Given the description of an element on the screen output the (x, y) to click on. 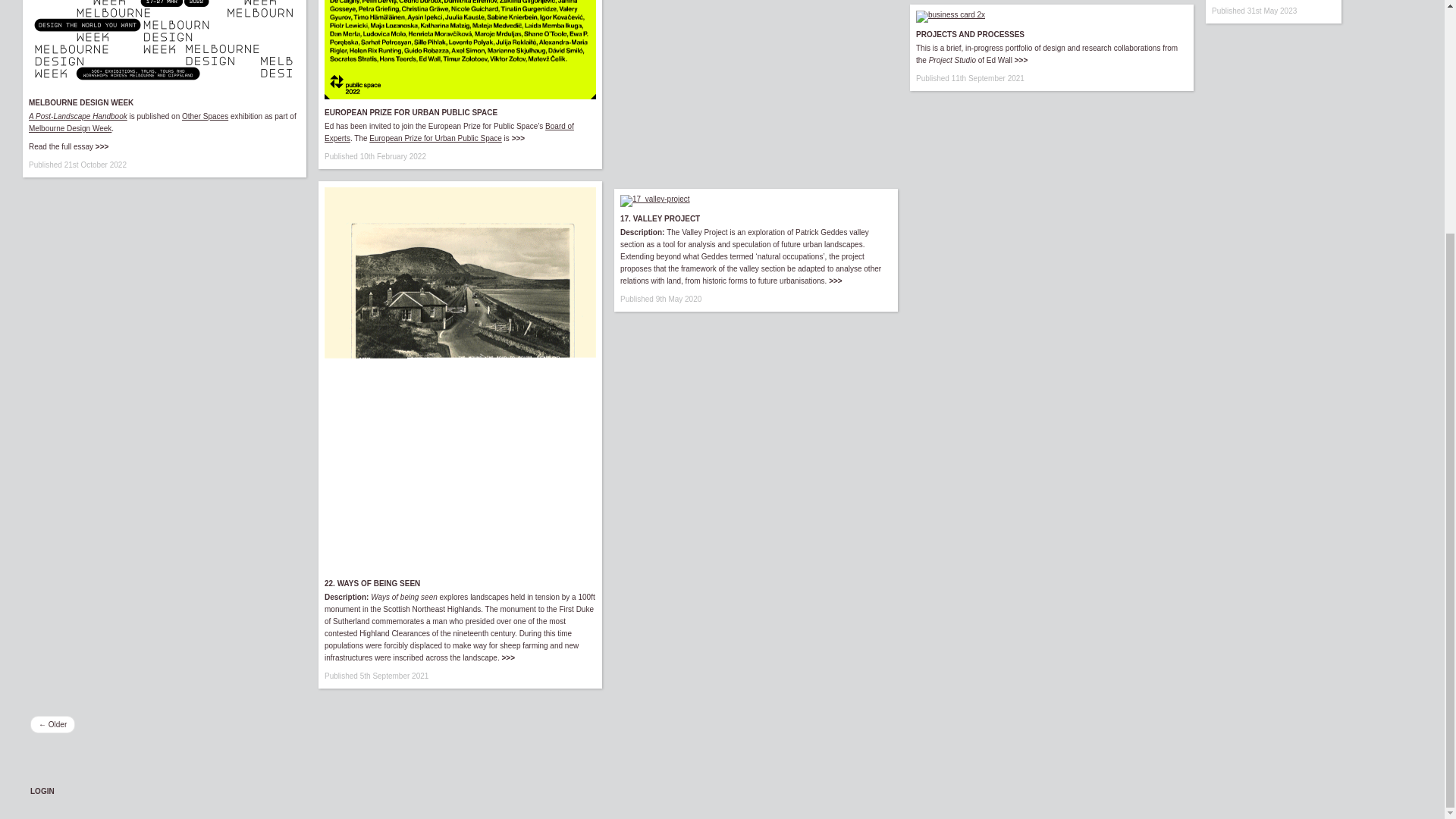
LOGIN (42, 791)
Melbourne Design Week (70, 128)
business card 2x (950, 16)
Board of Experts (448, 132)
European Prize for Urban Public Space (435, 138)
Other Spaces (205, 116)
A Post-Landscape Handbook (78, 116)
melbourne-design-week-default-sharing-2022 (164, 44)
